Given the description of an element on the screen output the (x, y) to click on. 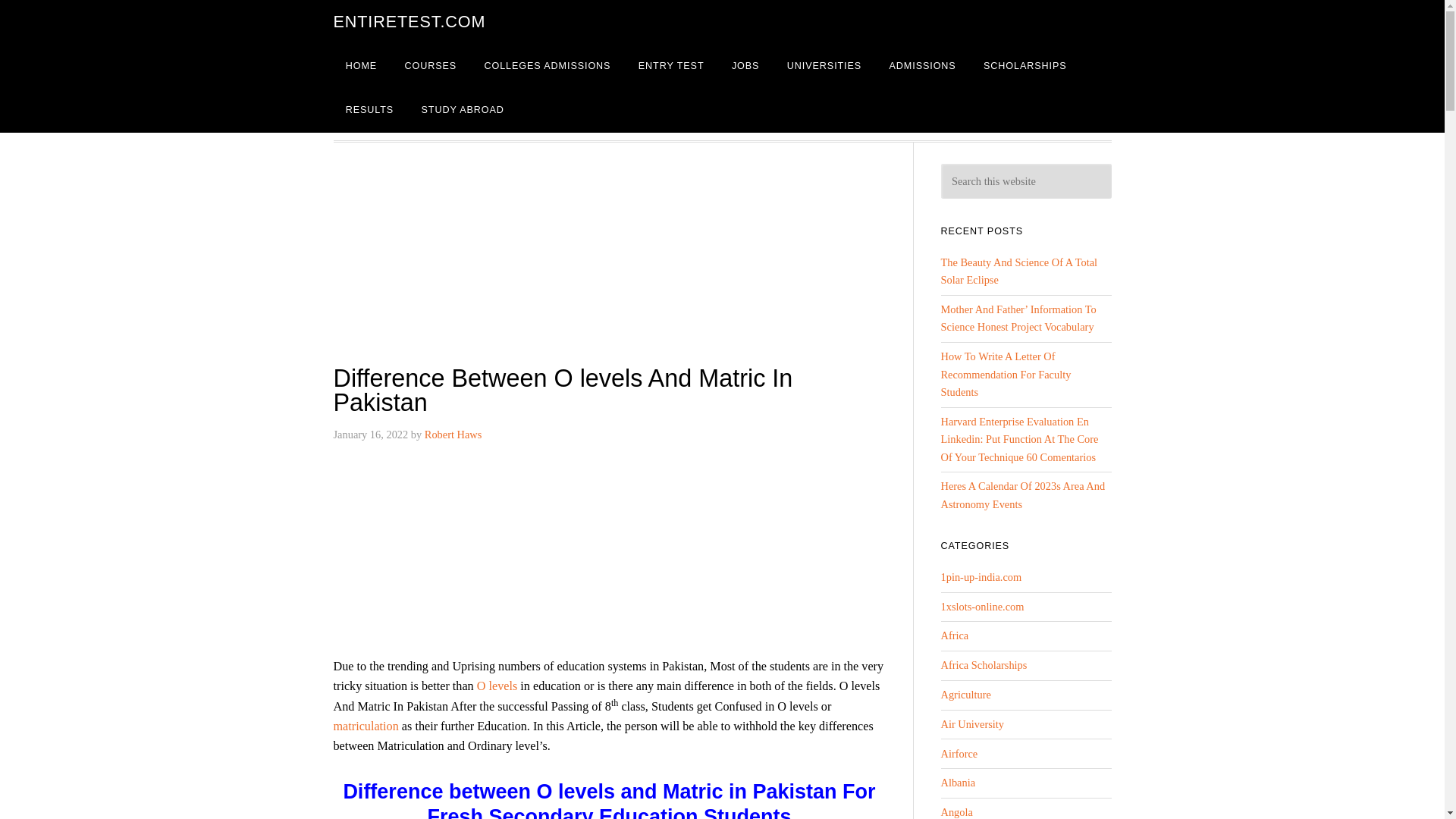
Advertisement (676, 617)
ENTRY TEST (744, 72)
Advertisement (676, 294)
COURSES (478, 72)
JOBS (828, 72)
UNIVERSITIES (915, 72)
COLLEGES ADMISSIONS (607, 72)
